Given the description of an element on the screen output the (x, y) to click on. 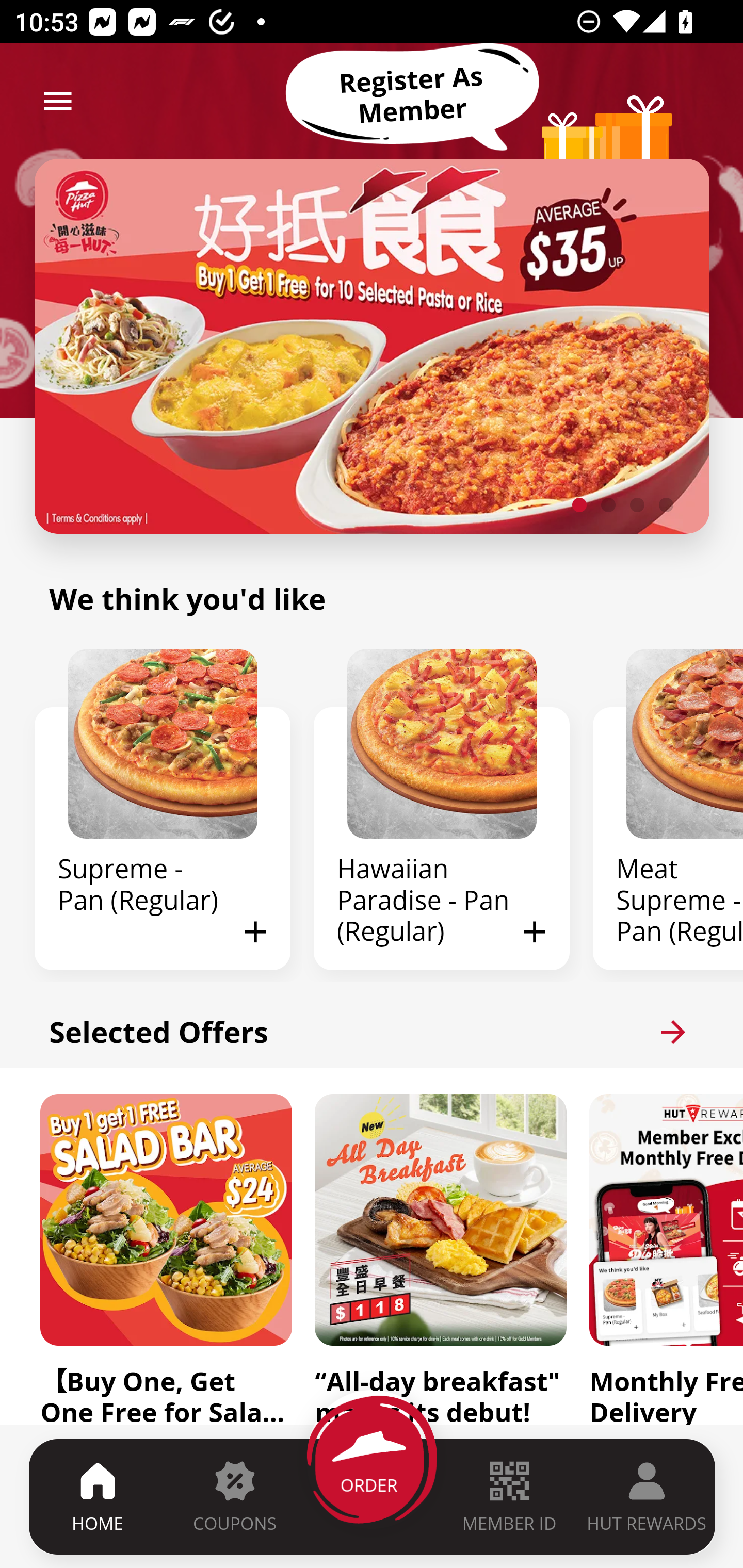
Register As Member (411, 95)
menu (58, 100)
arrow_forward (672, 1031)
HOME (97, 1496)
COUPONS (234, 1496)
ORDER (372, 1496)
MEMBER ID (509, 1496)
HUT REWARDS (647, 1496)
